Given the description of an element on the screen output the (x, y) to click on. 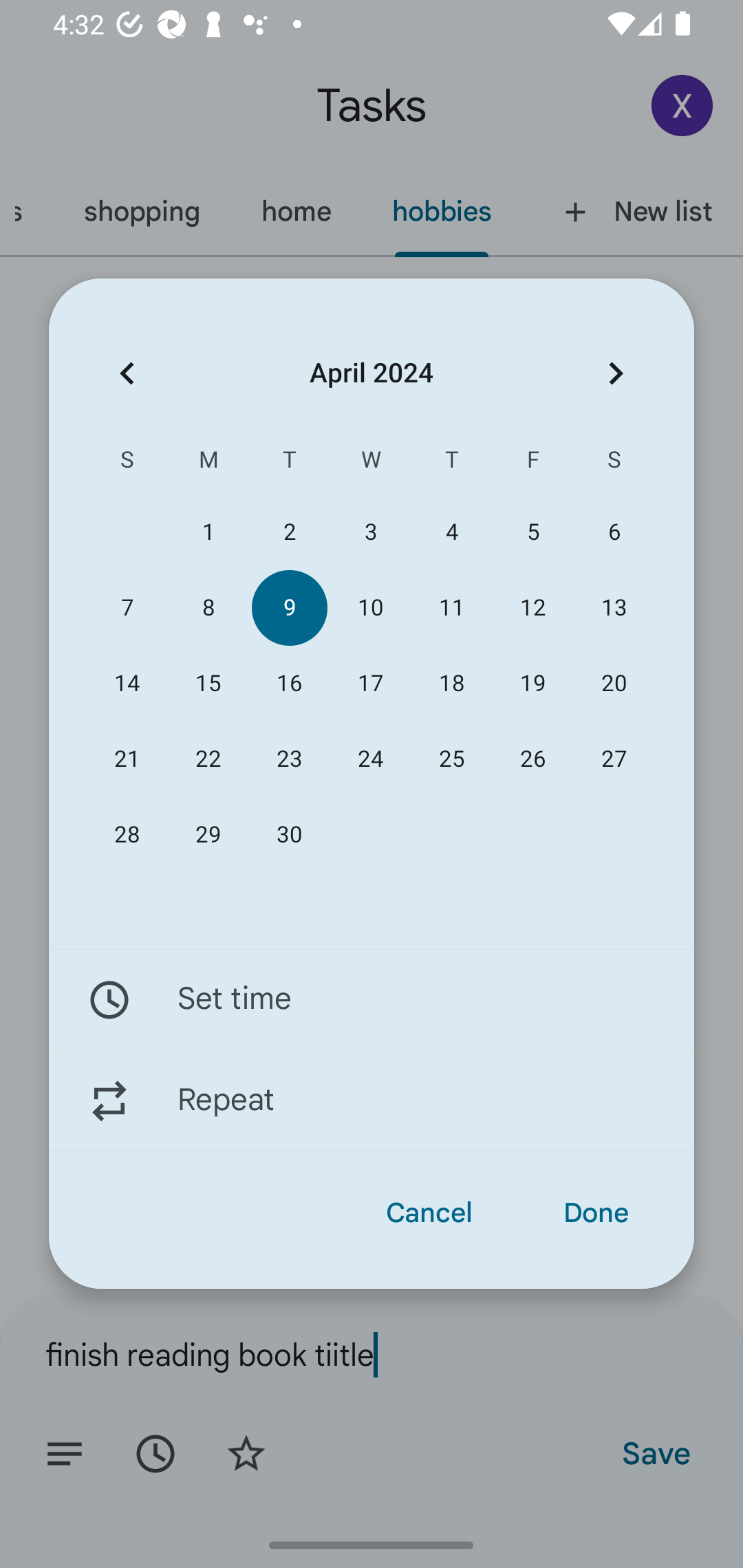
Previous month (126, 372)
Next month (615, 372)
1 01 April 2024 (207, 531)
2 02 April 2024 (288, 531)
3 03 April 2024 (370, 531)
4 04 April 2024 (451, 531)
5 05 April 2024 (532, 531)
6 06 April 2024 (613, 531)
7 07 April 2024 (126, 608)
8 08 April 2024 (207, 608)
9 09 April 2024 (288, 608)
10 10 April 2024 (370, 608)
11 11 April 2024 (451, 608)
12 12 April 2024 (532, 608)
13 13 April 2024 (613, 608)
14 14 April 2024 (126, 683)
15 15 April 2024 (207, 683)
16 16 April 2024 (288, 683)
17 17 April 2024 (370, 683)
18 18 April 2024 (451, 683)
19 19 April 2024 (532, 683)
20 20 April 2024 (613, 683)
21 21 April 2024 (126, 758)
22 22 April 2024 (207, 758)
23 23 April 2024 (288, 758)
24 24 April 2024 (370, 758)
25 25 April 2024 (451, 758)
26 26 April 2024 (532, 758)
27 27 April 2024 (613, 758)
28 28 April 2024 (126, 834)
29 29 April 2024 (207, 834)
30 30 April 2024 (288, 834)
Set time (371, 999)
Repeat (371, 1101)
Cancel (429, 1213)
Done (595, 1213)
